Given the description of an element on the screen output the (x, y) to click on. 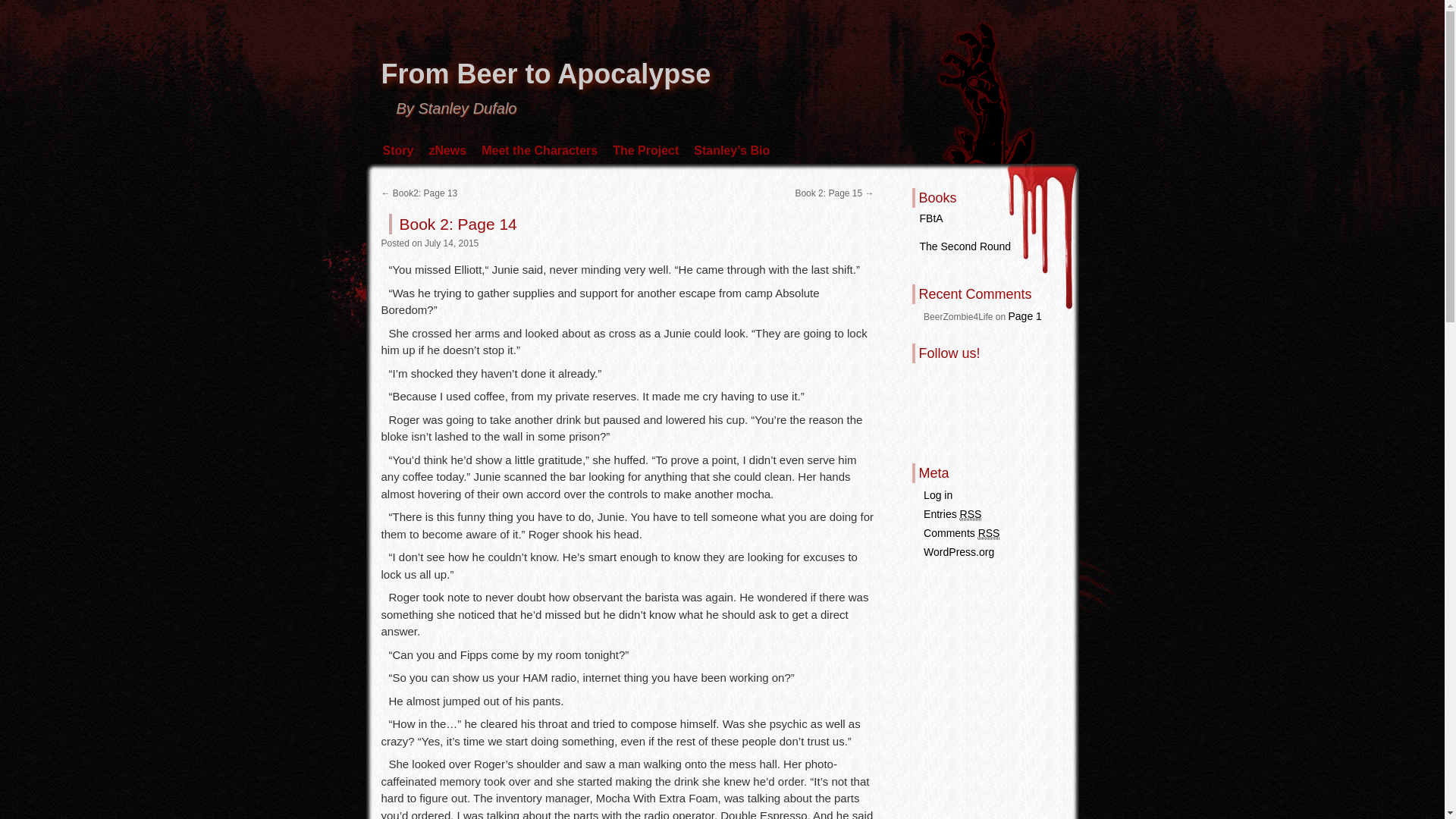
12:05 am (452, 243)
FBtA (930, 218)
Story (397, 150)
The Project (645, 150)
Really Simple Syndication (970, 513)
Entries RSS (952, 513)
Meet the Characters (539, 150)
Comments RSS (960, 533)
From Beer to Apocalypse (545, 73)
Log in (937, 494)
